Given the description of an element on the screen output the (x, y) to click on. 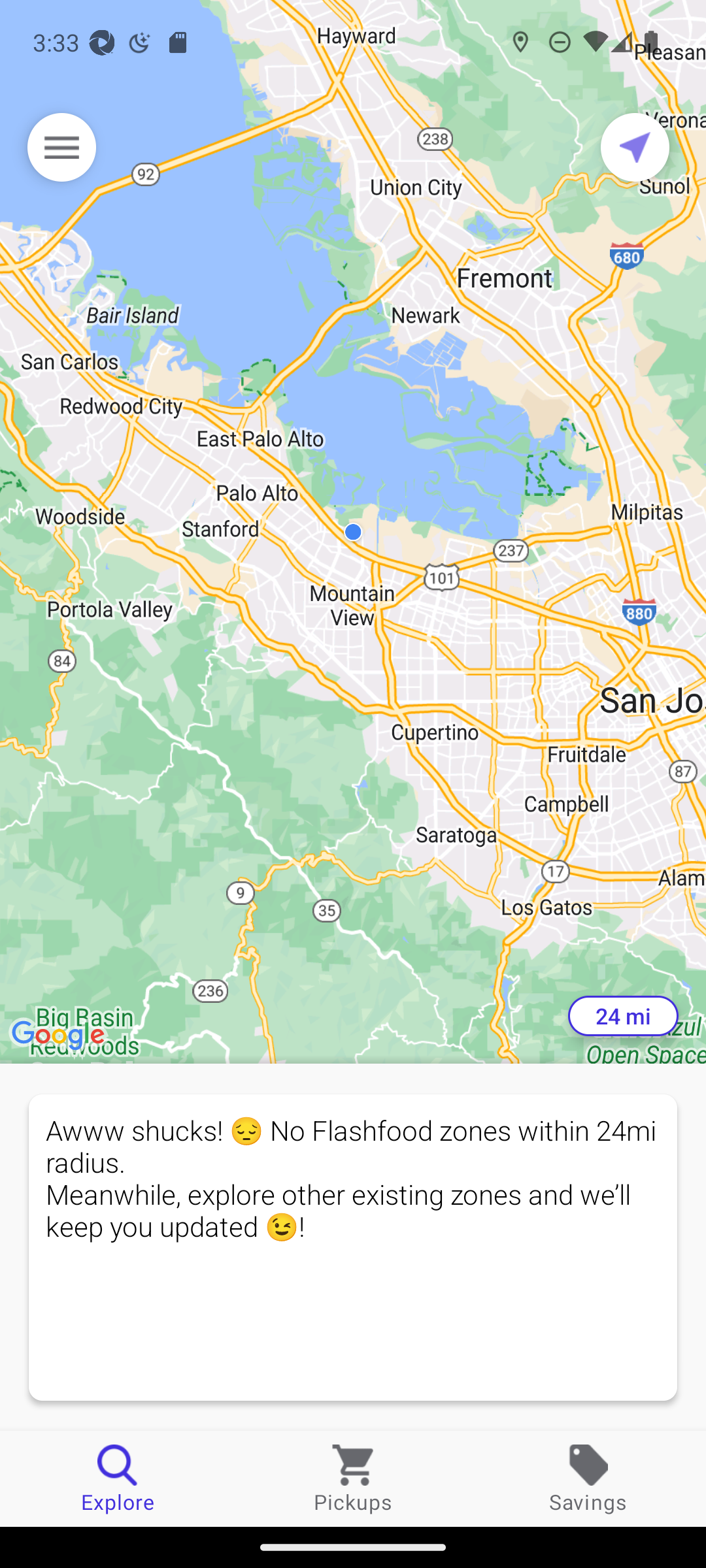
Menu (61, 146)
Current location (634, 146)
24 mi (623, 1015)
Pickups (352, 1478)
Savings (588, 1478)
